Given the description of an element on the screen output the (x, y) to click on. 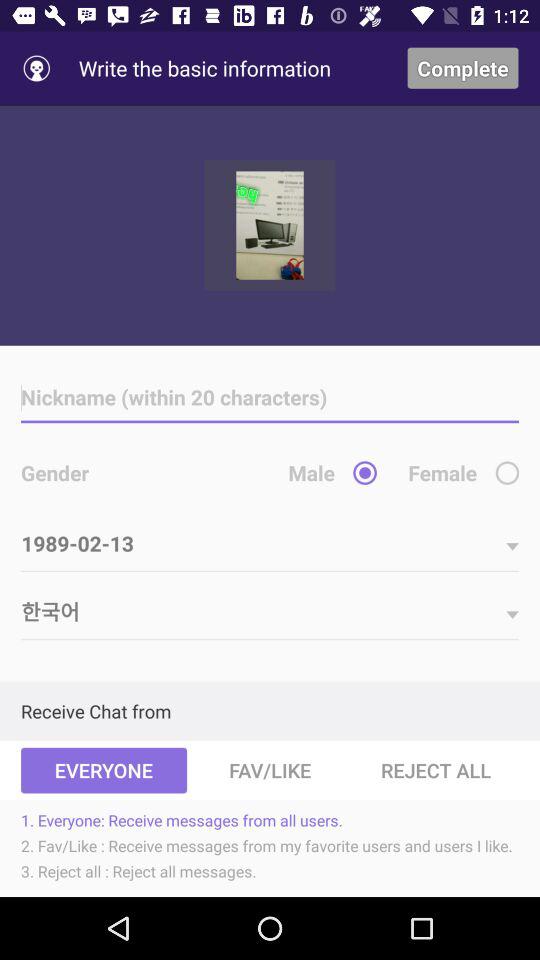
select male option (364, 472)
